Given the description of an element on the screen output the (x, y) to click on. 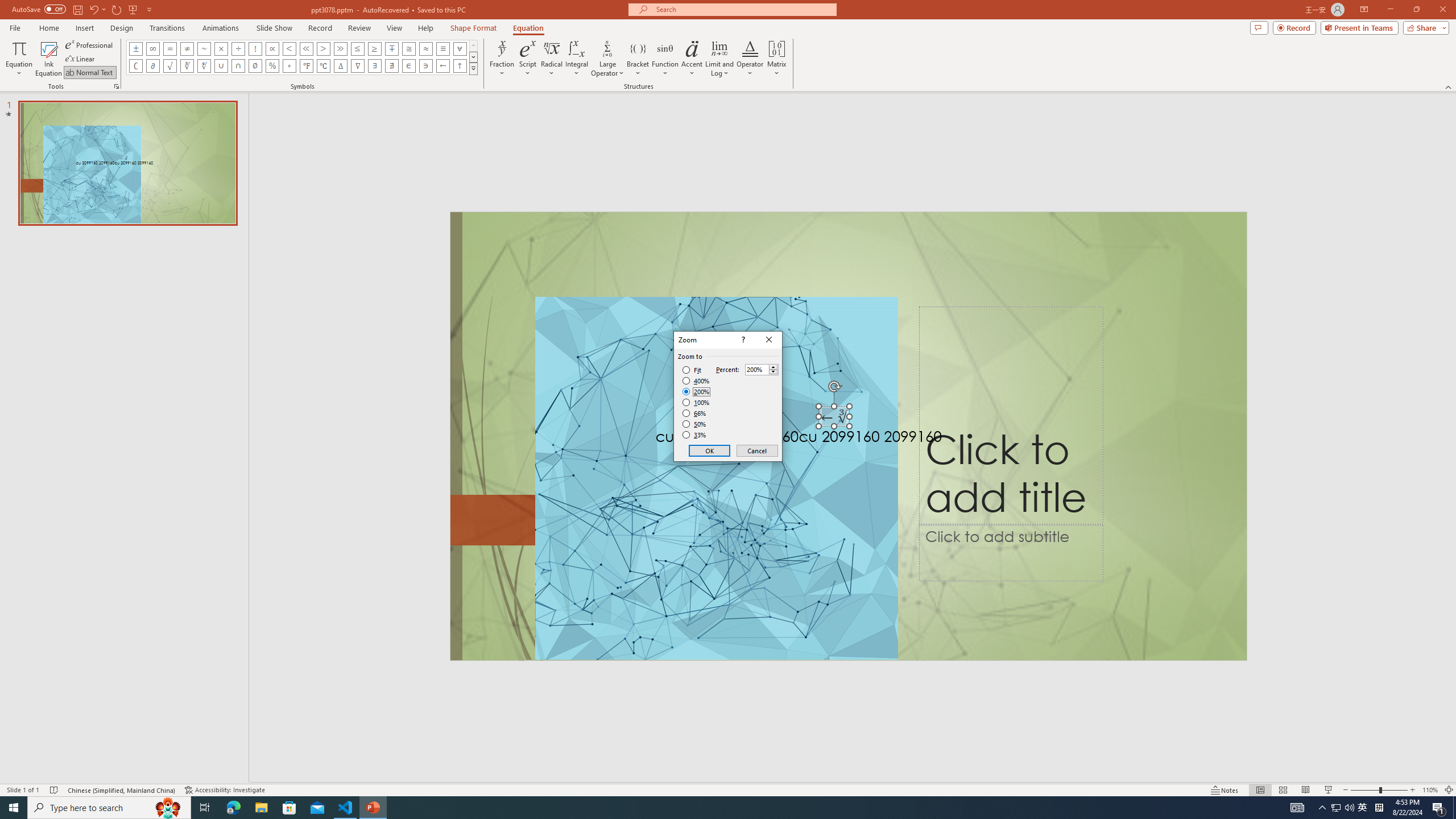
Equation Symbol Percentage (272, 65)
66% (694, 412)
Equation Symbol Intersection (238, 65)
Action Center, 1 new notification (1439, 807)
200% (696, 391)
Equation Symbol Not Equal To (187, 48)
Accent (691, 58)
